Given the description of an element on the screen output the (x, y) to click on. 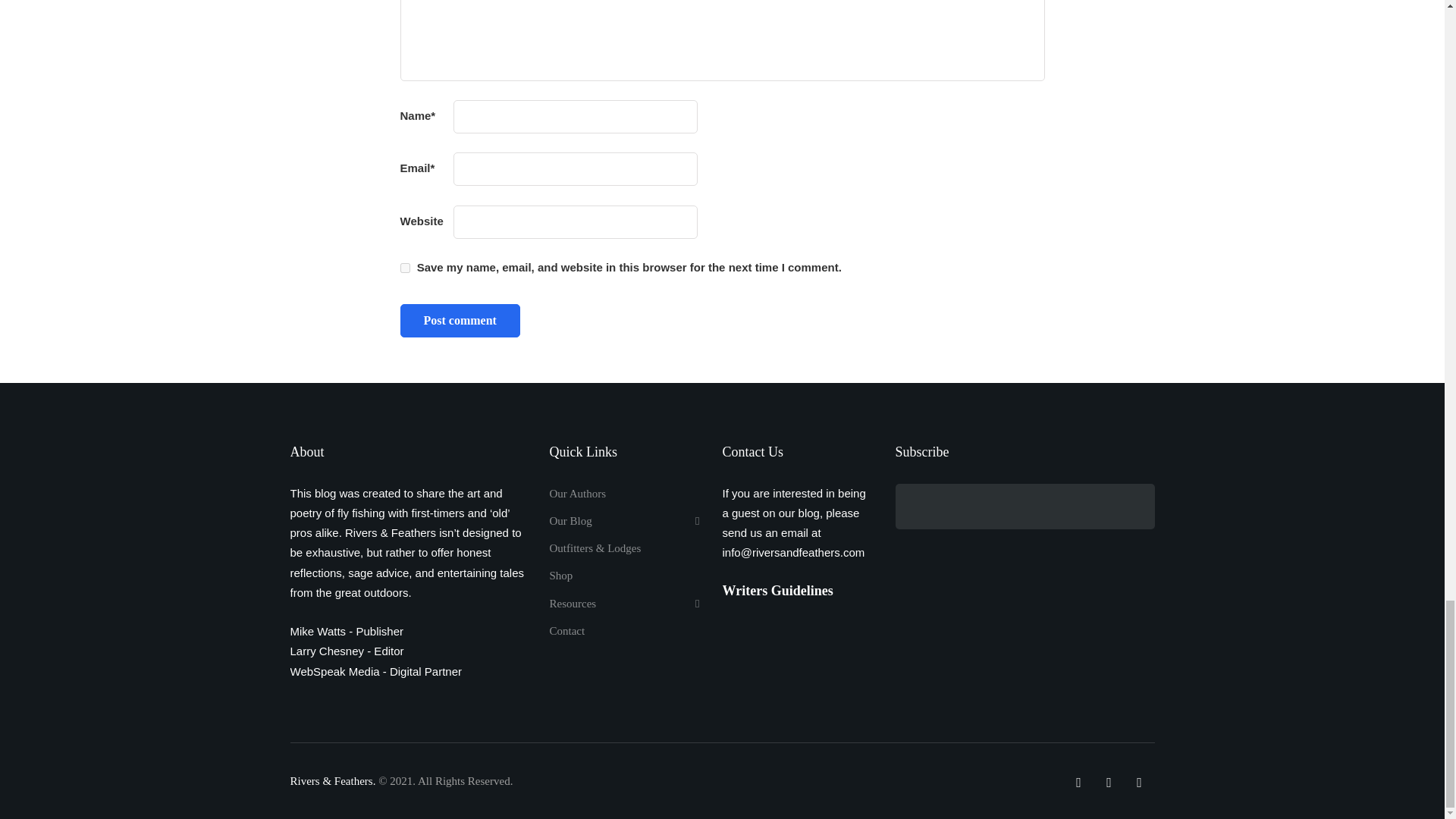
WebSpeak Media (335, 671)
Our Authors (576, 493)
yes (405, 267)
Post comment (459, 320)
Post comment (459, 320)
Our Blog (623, 520)
